Given the description of an element on the screen output the (x, y) to click on. 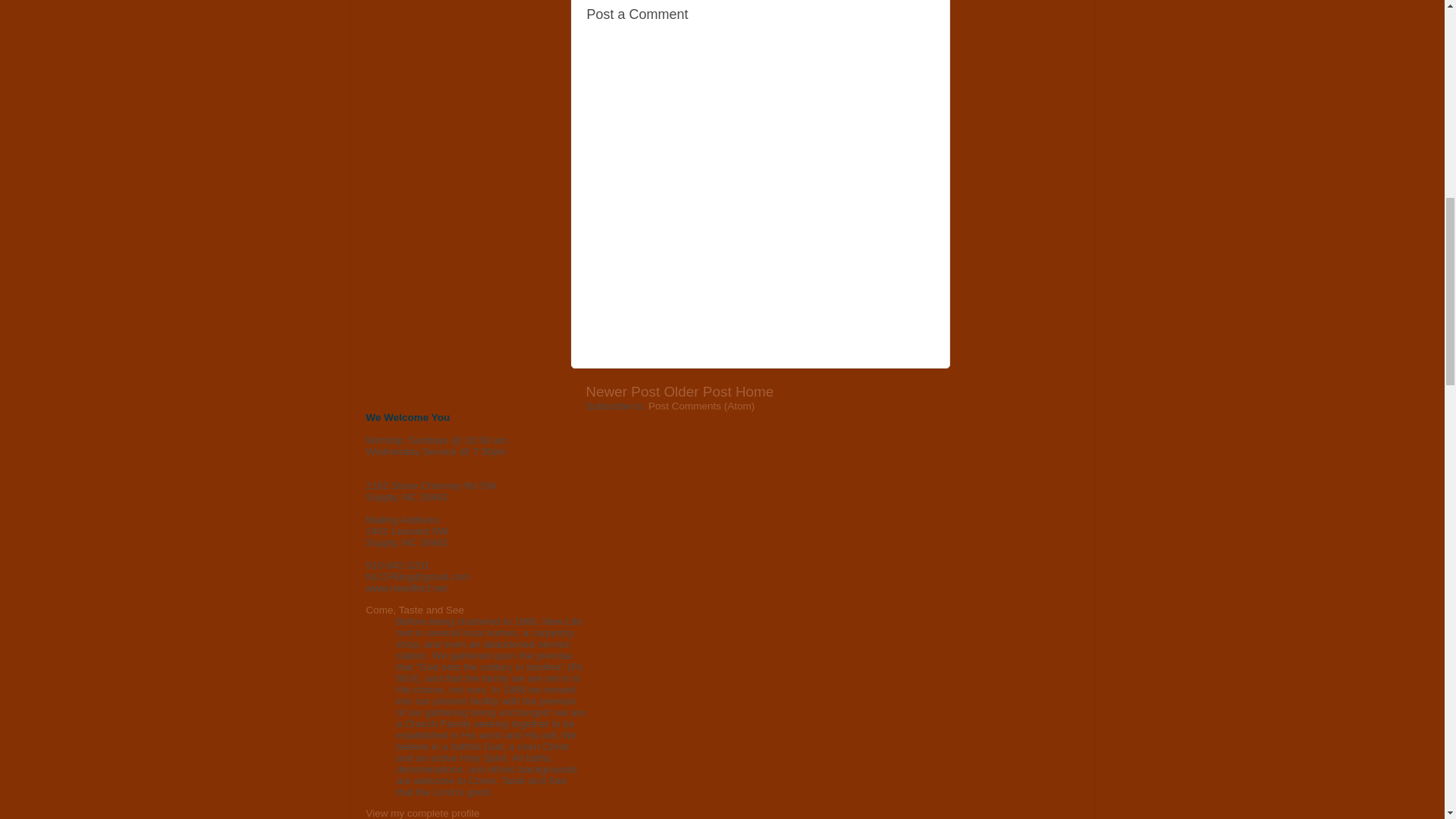
Older Post (696, 391)
Newer Post (622, 391)
Come, Taste and See (414, 609)
Older Post (696, 391)
Newer Post (622, 391)
View my complete profile (422, 813)
Home (754, 391)
